Given the description of an element on the screen output the (x, y) to click on. 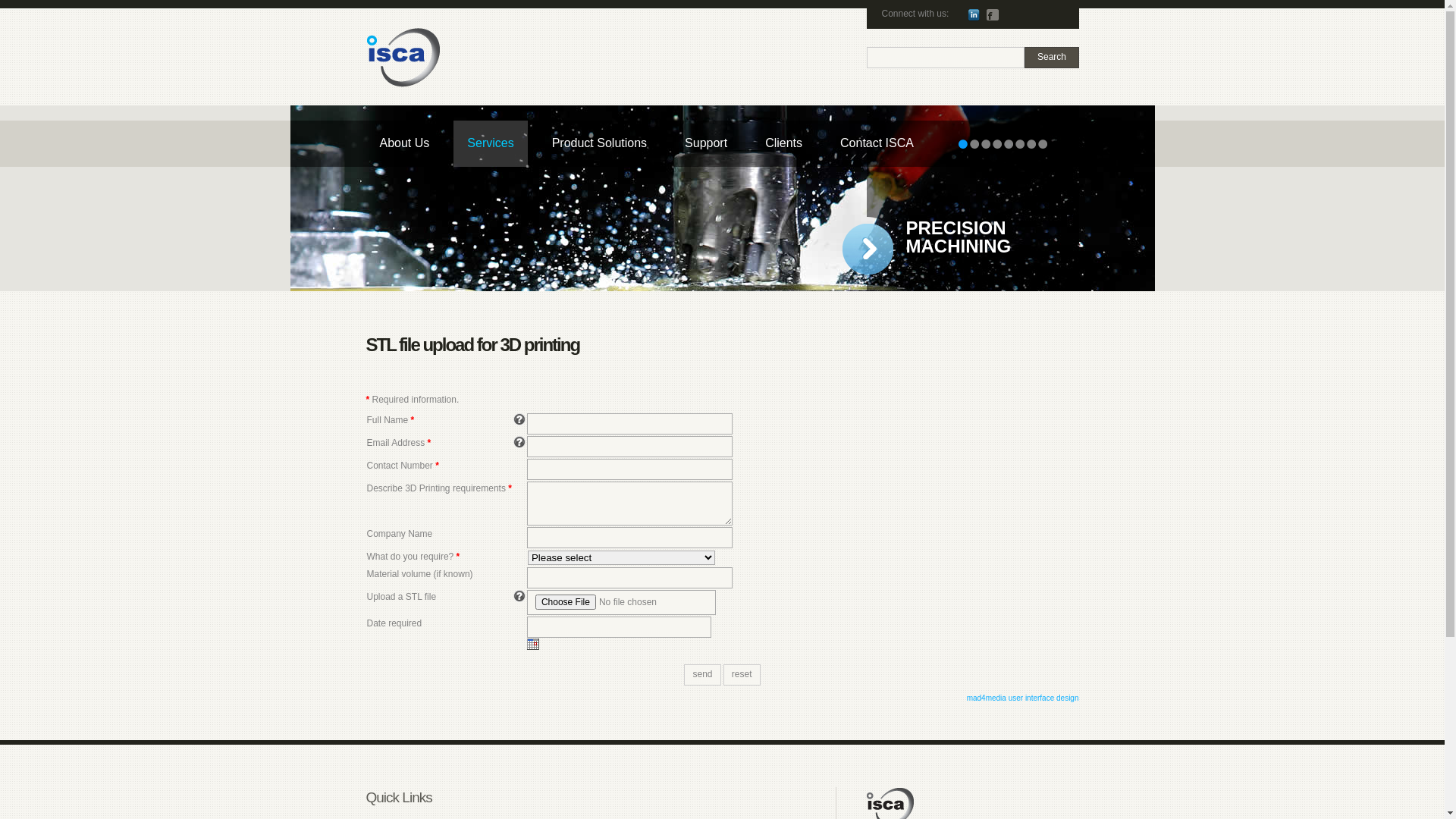
Support Element type: text (705, 143)
Services Element type: text (490, 143)
7 Element type: text (1030, 143)
Product Solutions Element type: text (599, 143)
8 Element type: text (1041, 143)
5 Element type: text (1008, 143)
About Us Element type: text (403, 143)
user interface design Element type: text (1043, 697)
2 Element type: text (973, 143)
6 Element type: text (1018, 143)
Contact ISCA Element type: text (876, 143)
Clients Element type: text (783, 143)
1 Element type: text (962, 143)
mad4media Element type: text (987, 697)
4 Element type: text (996, 143)
Search Element type: text (1050, 57)
3 Element type: text (985, 143)
send Element type: text (702, 674)
